Given the description of an element on the screen output the (x, y) to click on. 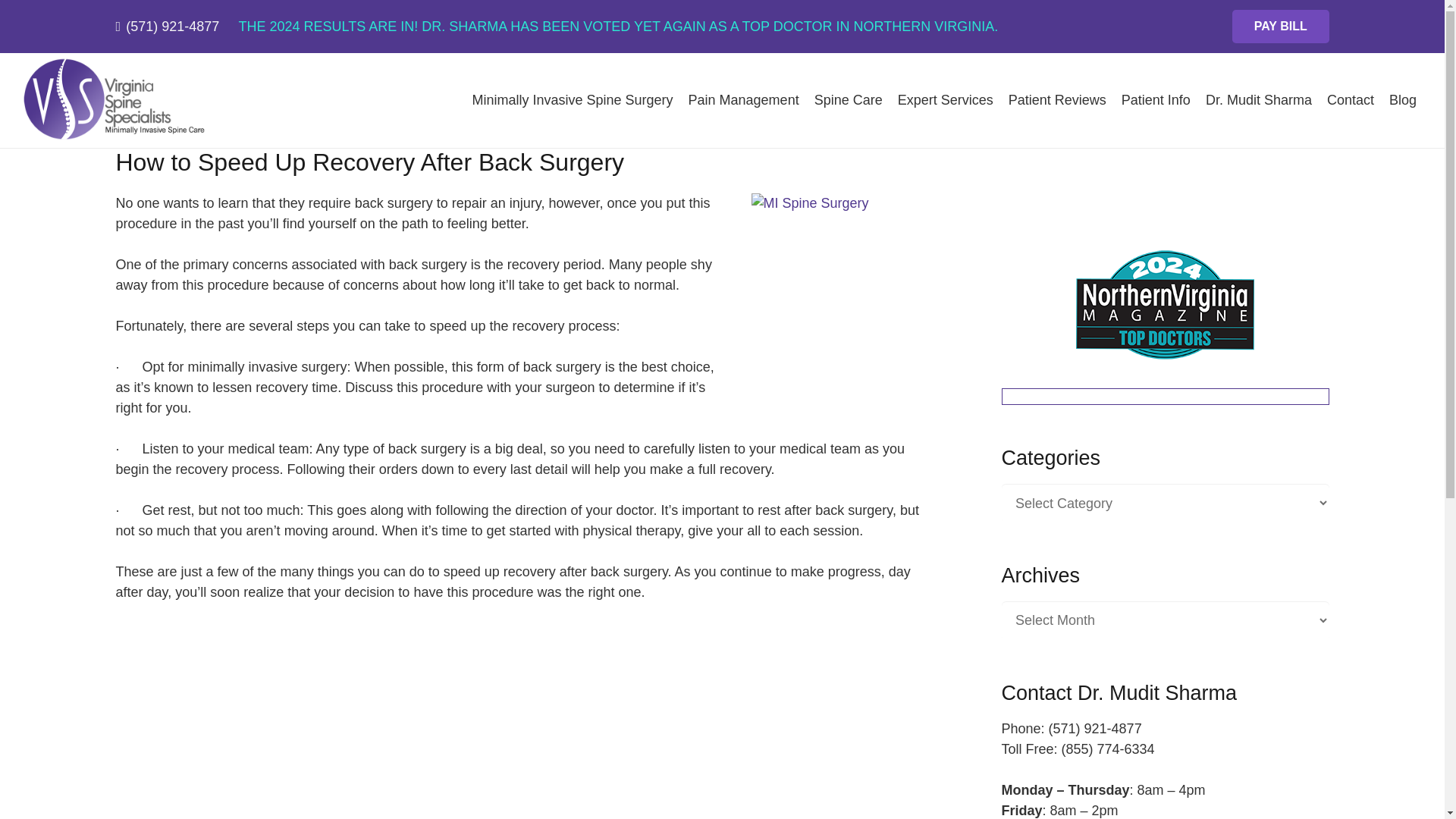
Expert Services (945, 100)
Dr. Mudit Sharma (1258, 100)
Patient Reviews (1057, 100)
Pain Management (743, 100)
Minimally Invasive Spine Surgery (571, 100)
PAY BILL (1280, 26)
